Given the description of an element on the screen output the (x, y) to click on. 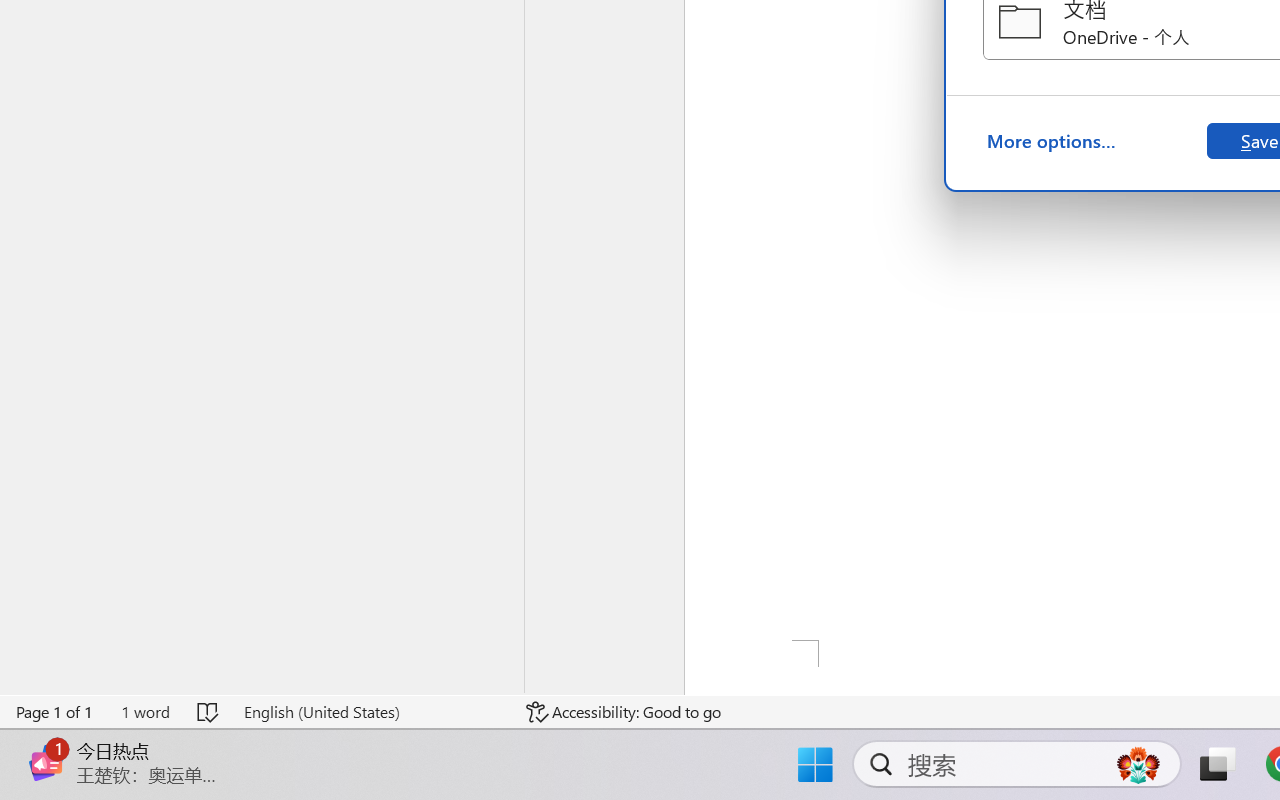
Class: Image (46, 762)
Page Number Page 1 of 1 (55, 712)
Accessibility Checker Accessibility: Good to go (623, 712)
Spelling and Grammar Check No Errors (208, 712)
AutomationID: BadgeAnchorLargeTicker (46, 743)
AutomationID: DynamicSearchBoxGleamImage (1138, 764)
Word Count 1 word (145, 712)
Language English (United States) (370, 712)
